Given the description of an element on the screen output the (x, y) to click on. 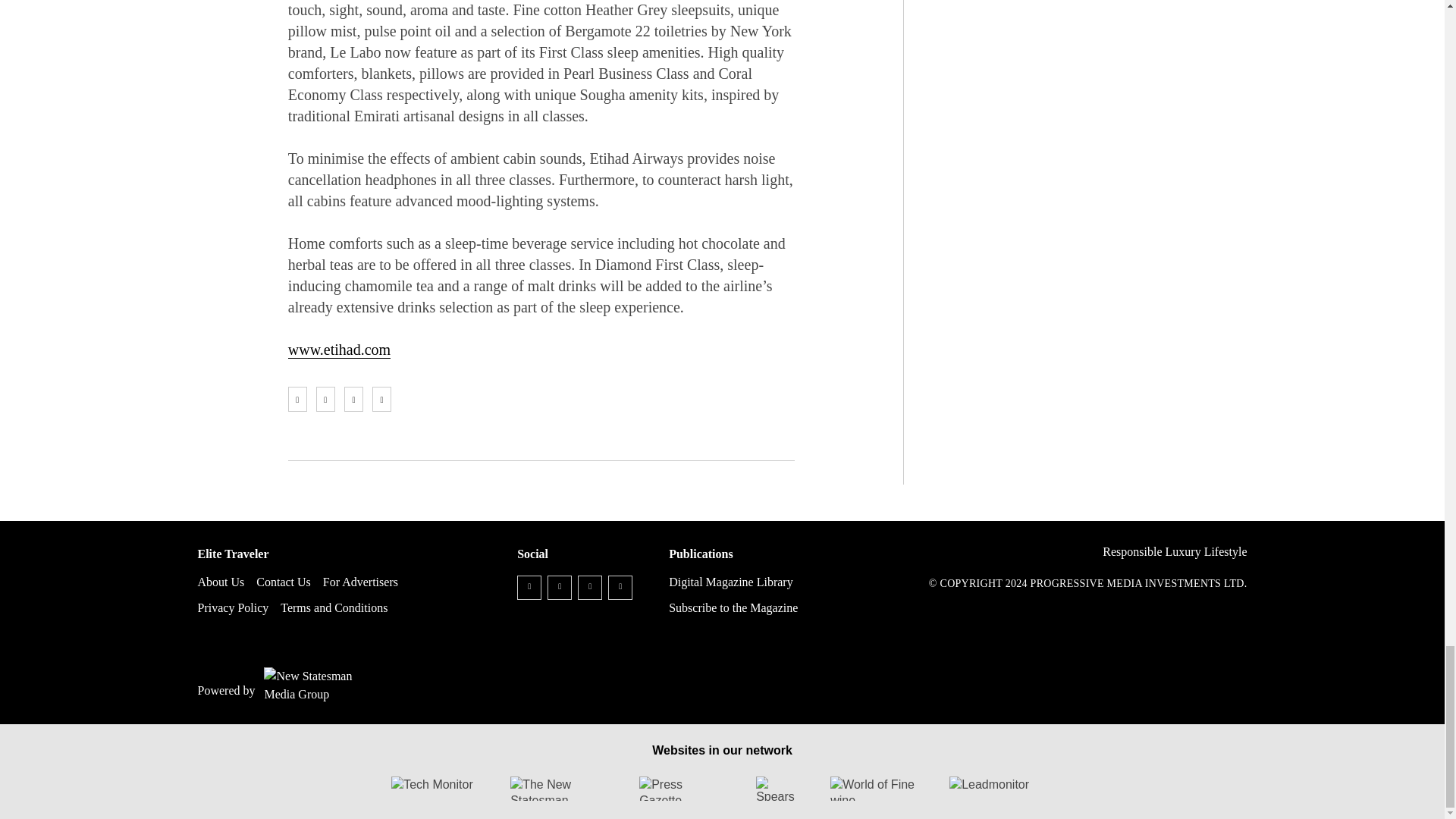
Follow us on Facebook (528, 587)
Follow us on Twitter (559, 587)
